Given the description of an element on the screen output the (x, y) to click on. 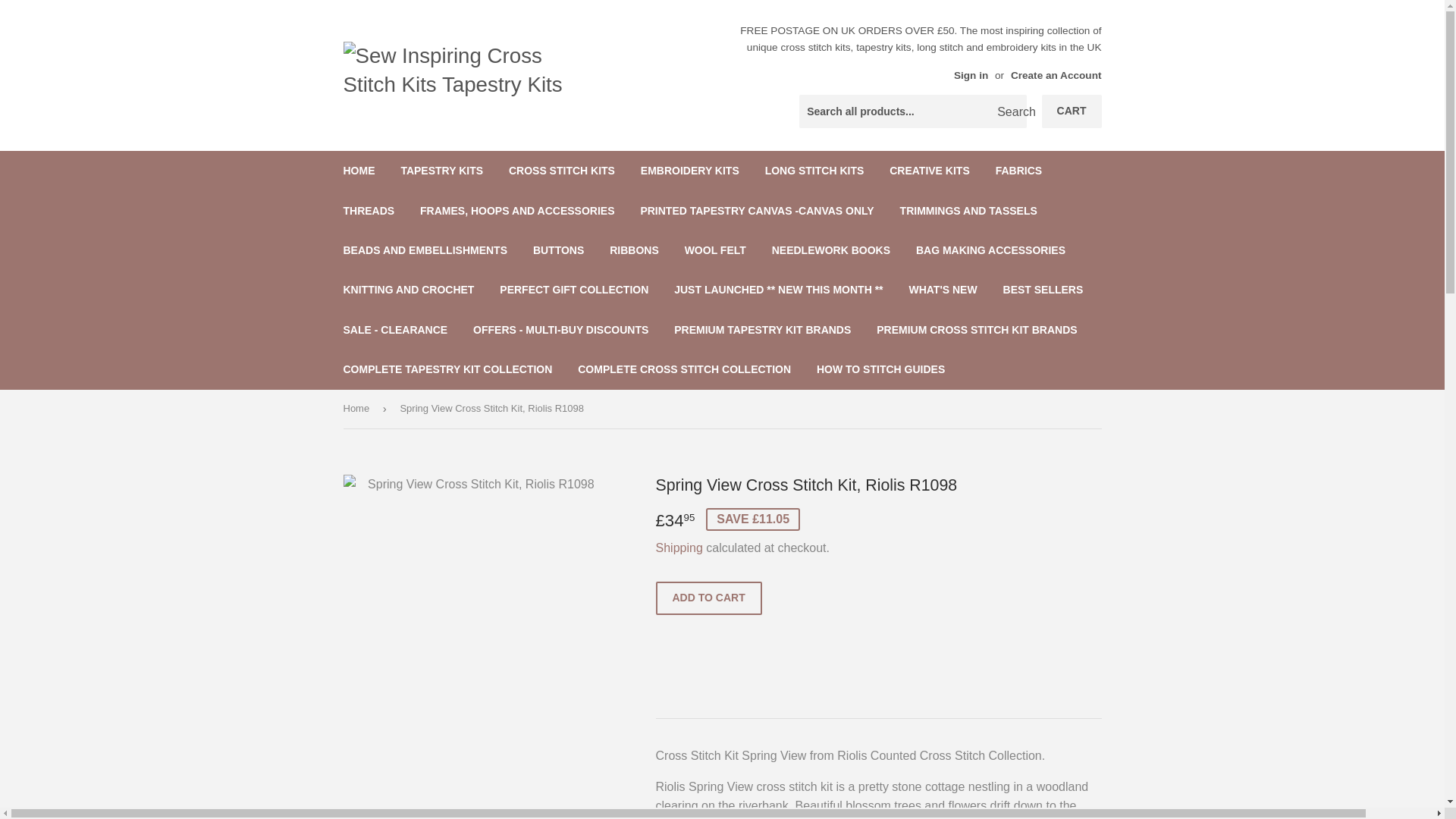
Search (1009, 111)
CART (1072, 111)
Create an Account (1056, 75)
Sign in (970, 75)
